Given the description of an element on the screen output the (x, y) to click on. 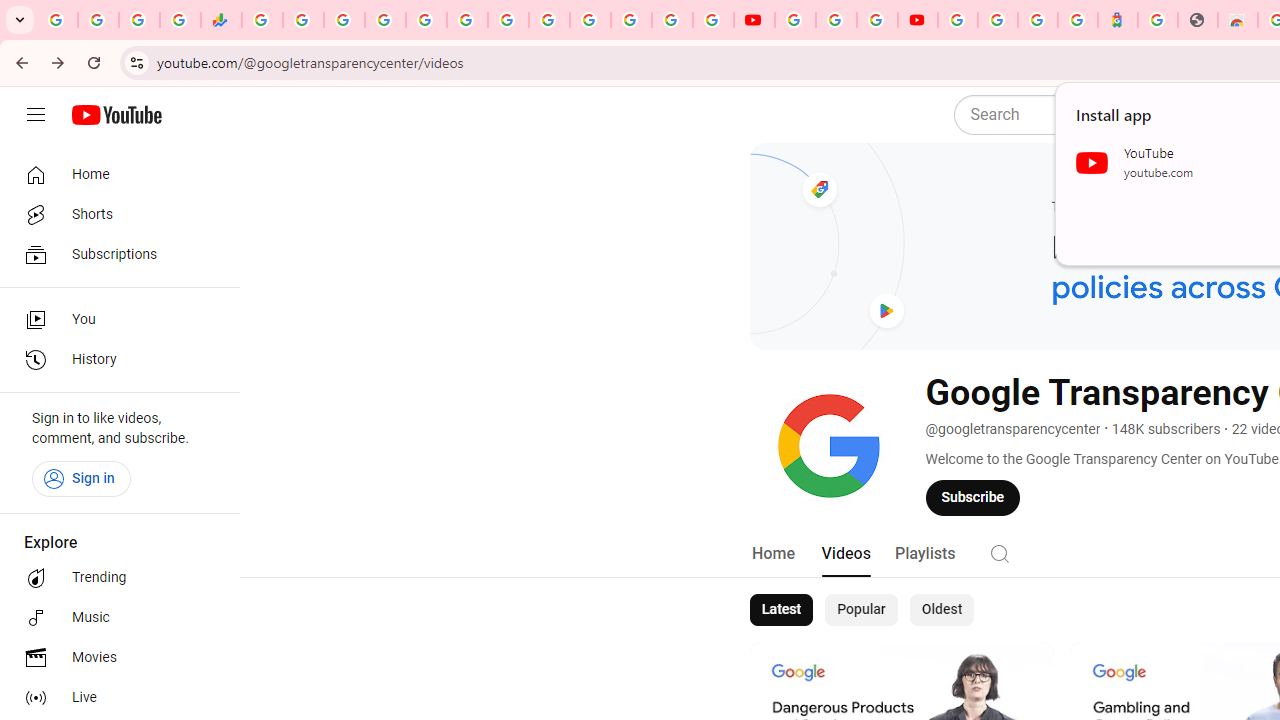
Videos (845, 553)
Music (113, 617)
Sign in - Google Accounts (957, 20)
Oldest (941, 609)
YouTube (753, 20)
Sign in - Google Accounts (384, 20)
Subscriptions (113, 254)
Privacy Checkup (712, 20)
